Given the description of an element on the screen output the (x, y) to click on. 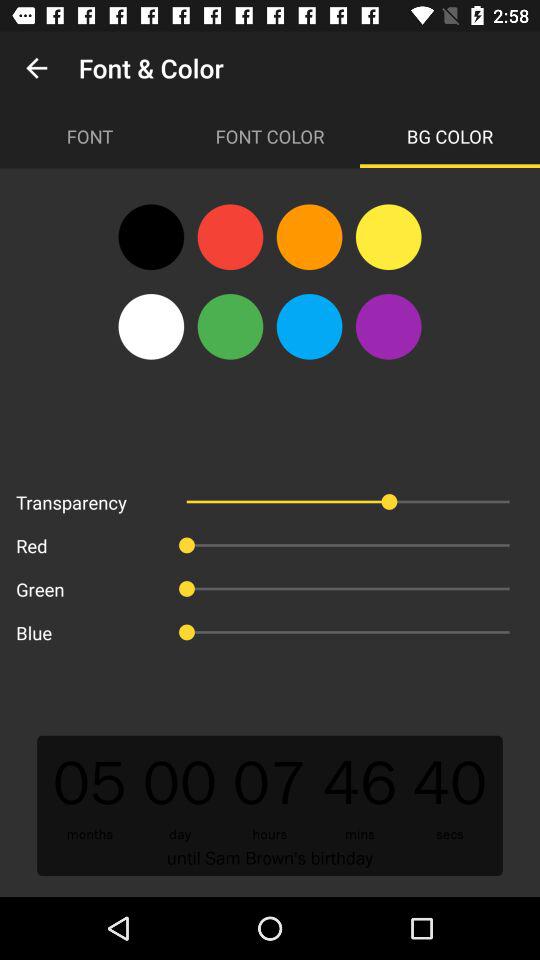
open the icon to the right of font color (450, 136)
